Given the description of an element on the screen output the (x, y) to click on. 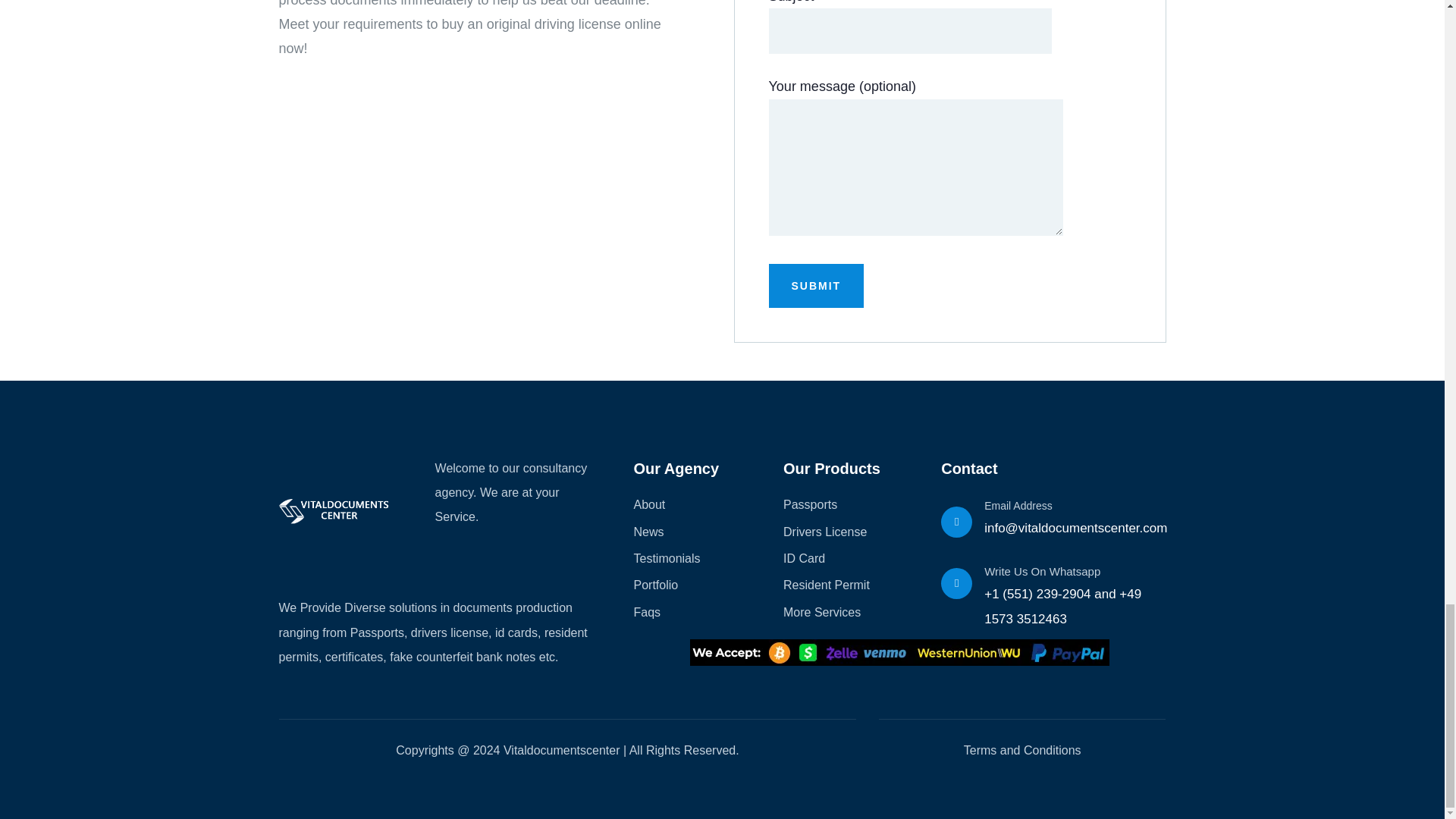
Home (336, 510)
Submit (816, 285)
